Given the description of an element on the screen output the (x, y) to click on. 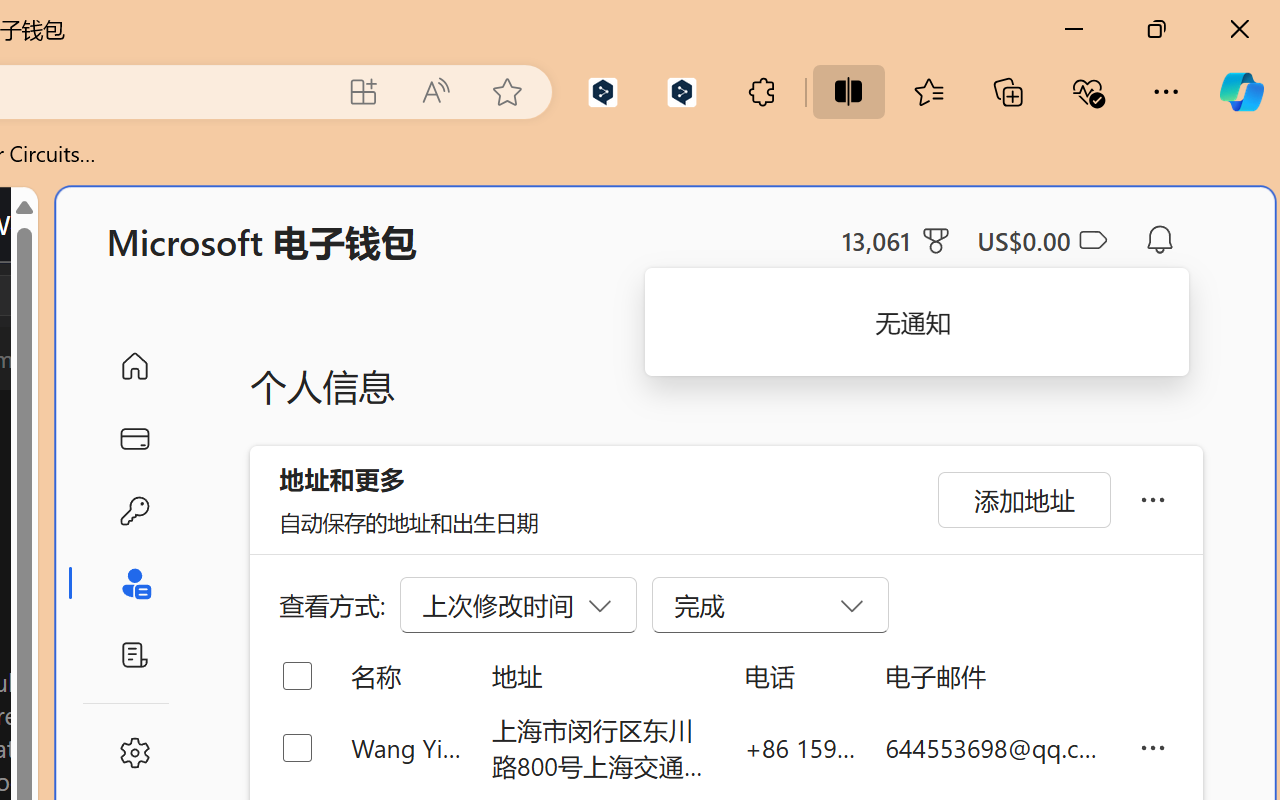
+86 159 0032 4640 (799, 747)
644553698@qq.com (996, 747)
Copilot (Ctrl+Shift+.) (1241, 91)
Wang Yian (406, 747)
